Given the description of an element on the screen output the (x, y) to click on. 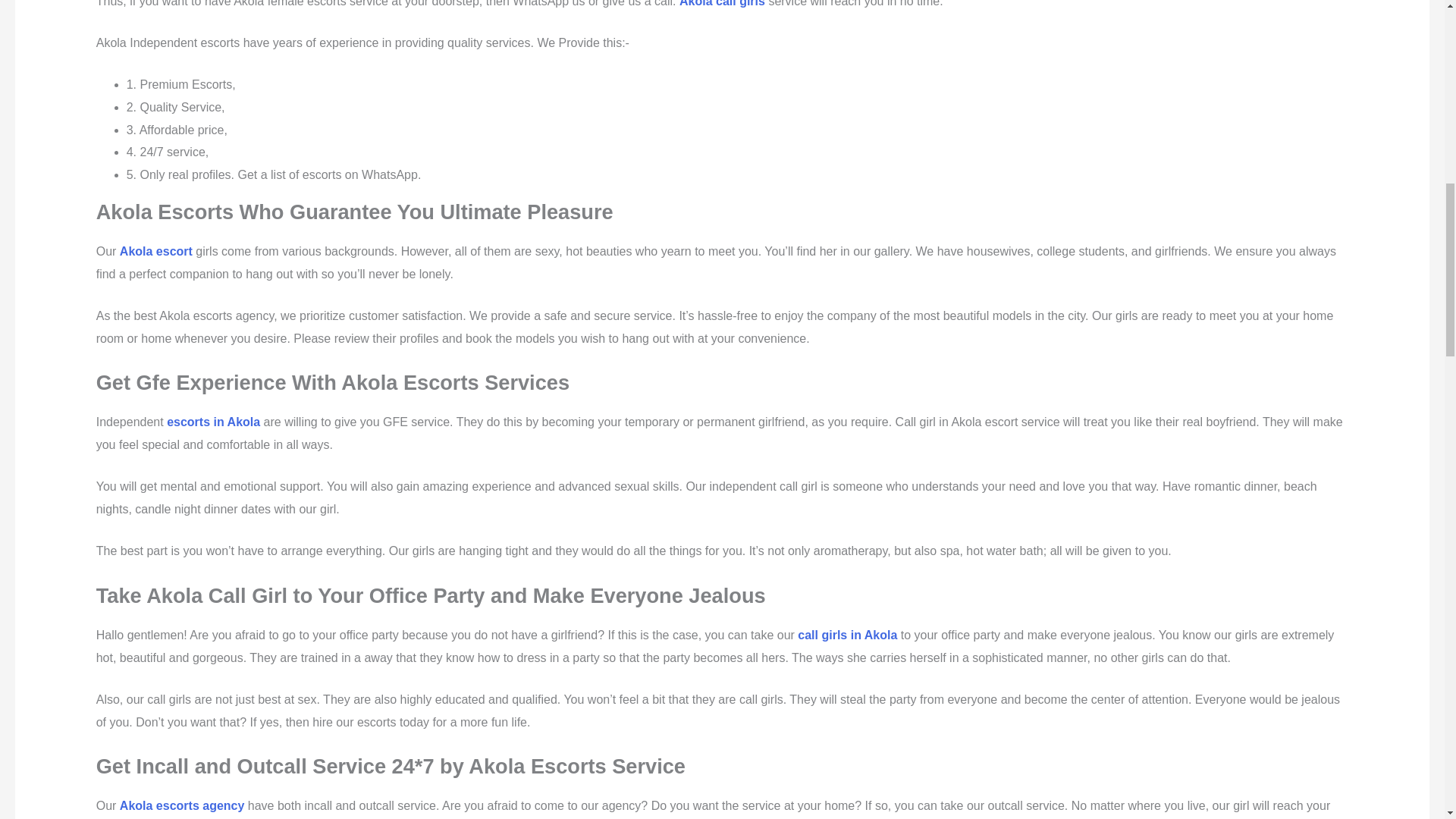
Akola escorts agency (181, 805)
escorts in Akola (213, 421)
call girls in Akola (846, 634)
Akola escort (155, 250)
Akola call girls (722, 3)
